Given the description of an element on the screen output the (x, y) to click on. 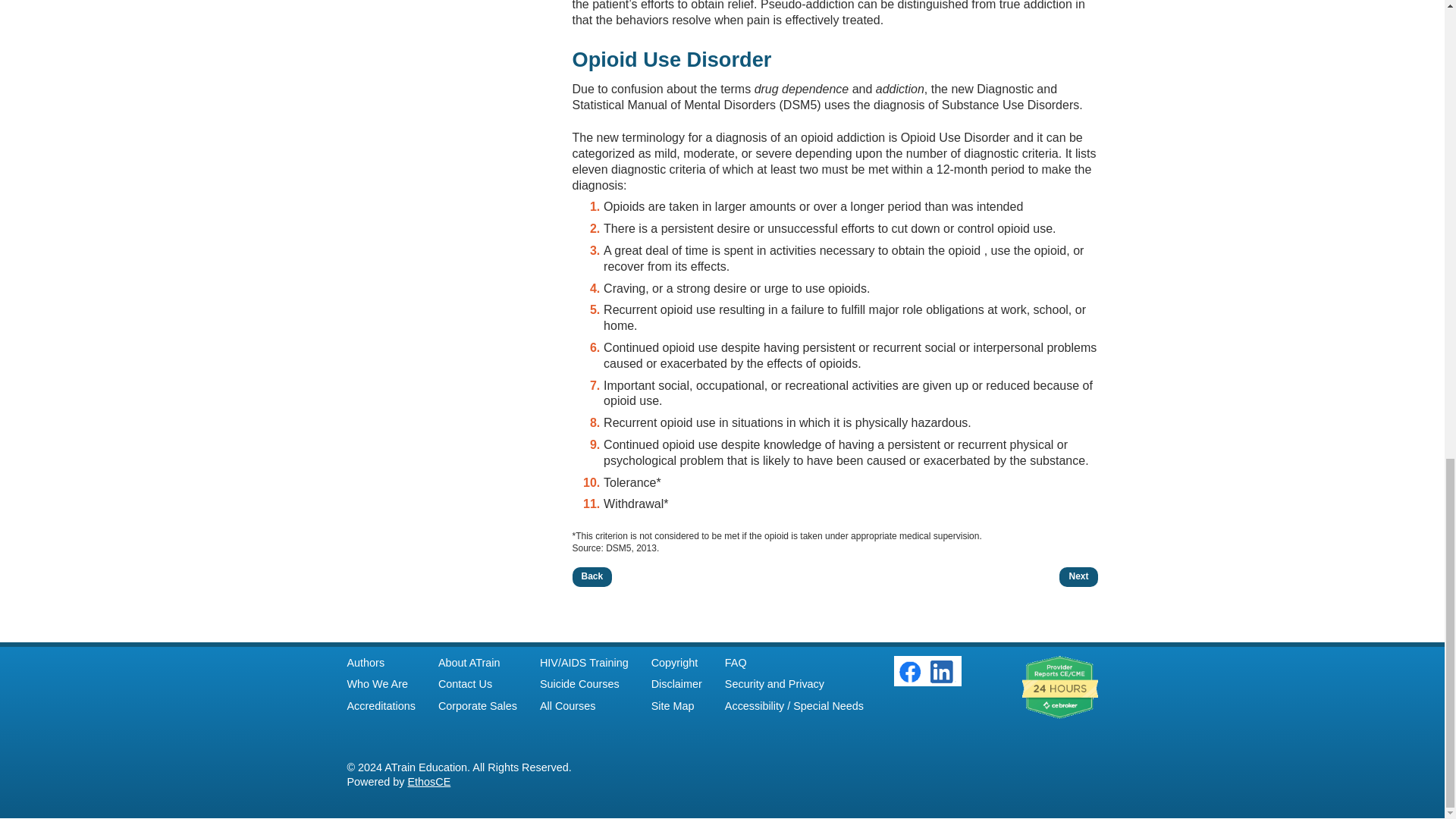
Back (591, 577)
ATrain Page on LinkedIn (943, 671)
ATrain Company Page on LinkedIn (943, 679)
Find ATrain on Facebook (909, 671)
Next (1078, 577)
Find ATrain on Facebook (909, 679)
CE Broker 24 Hour Reporting Badge (1059, 687)
